Given the description of an element on the screen output the (x, y) to click on. 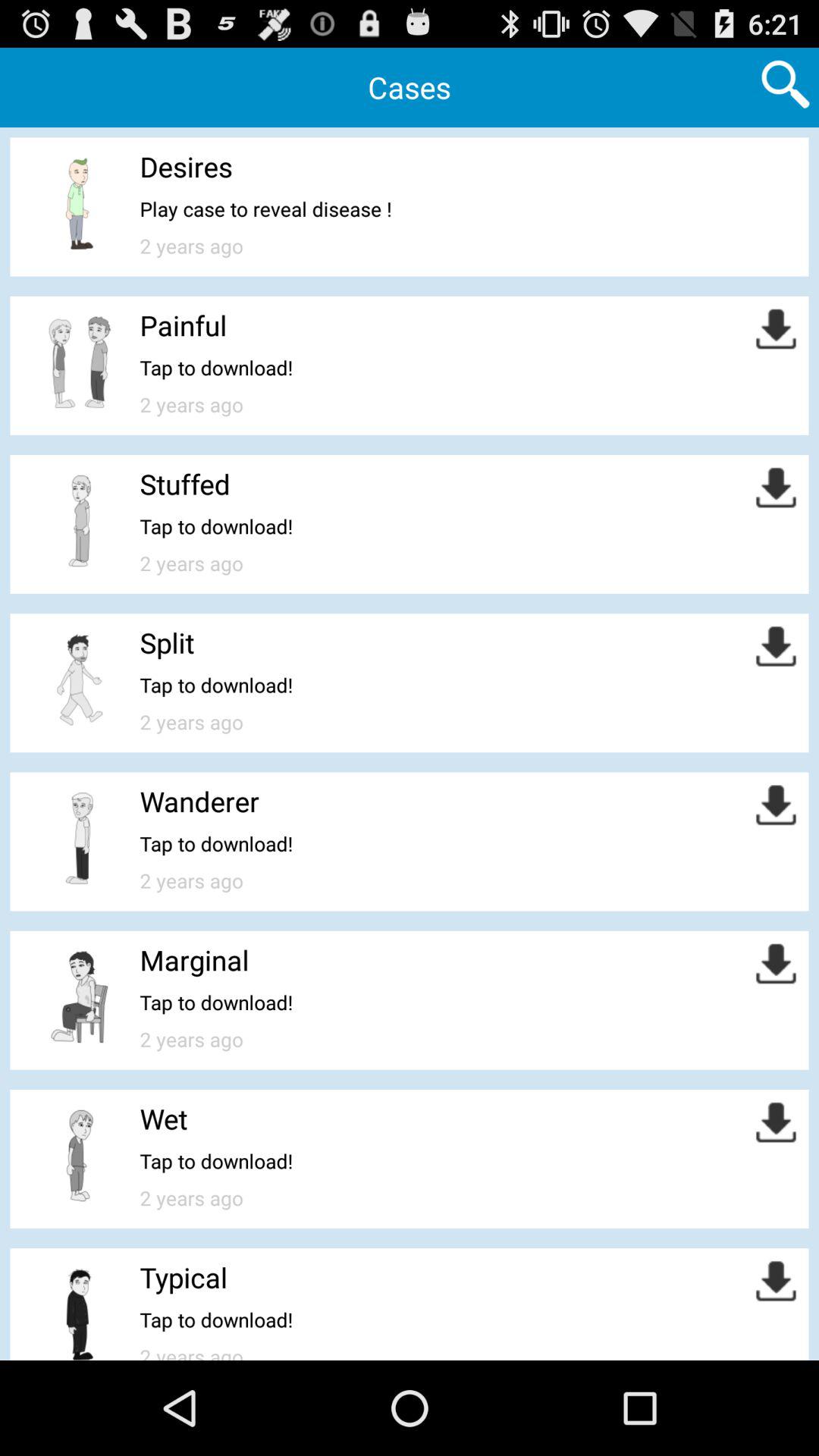
choose stuffed app (184, 483)
